Given the description of an element on the screen output the (x, y) to click on. 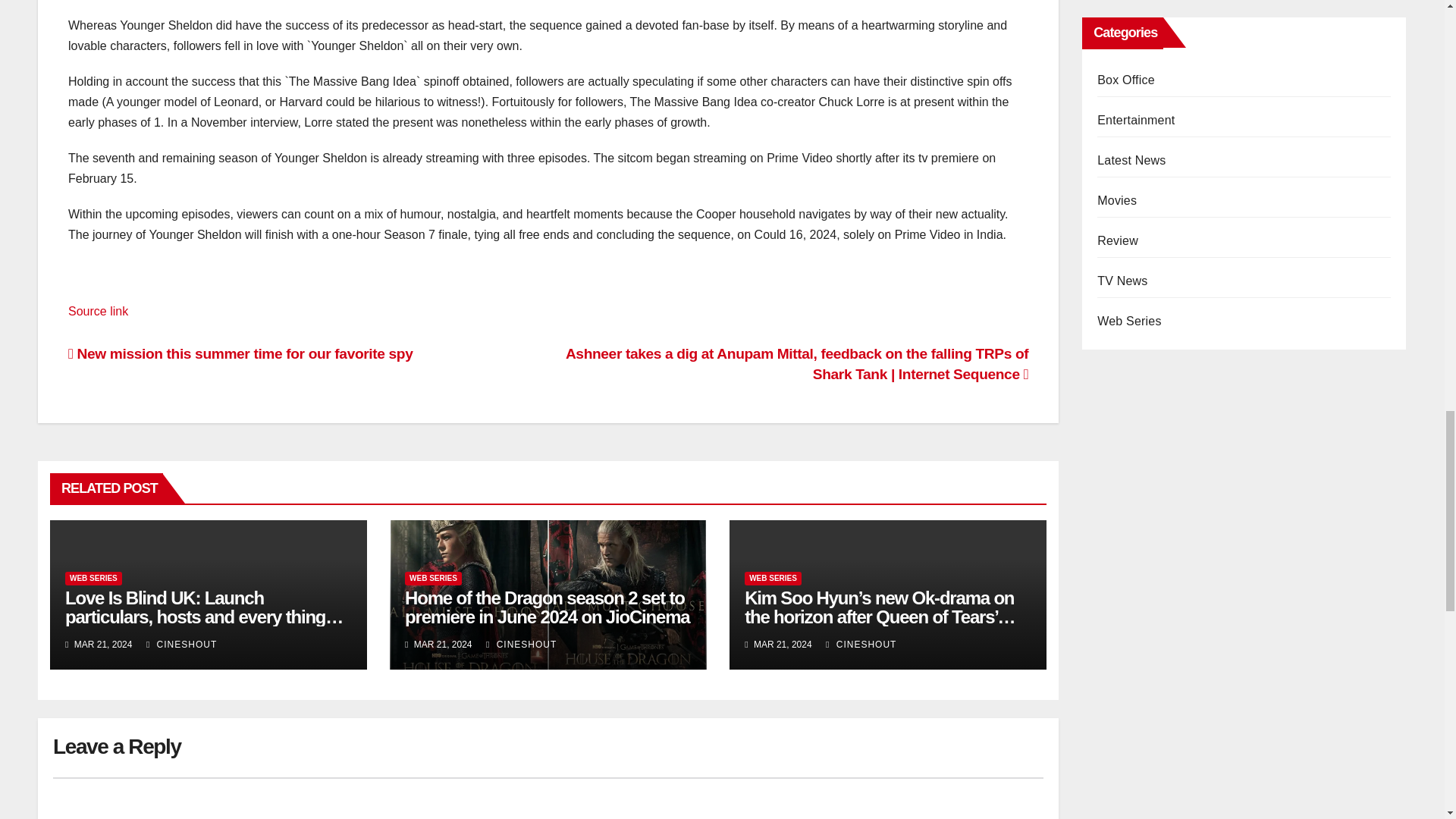
WEB SERIES (773, 578)
WEB SERIES (93, 578)
CINESHOUT (860, 644)
CINESHOUT (521, 644)
Comment Form (547, 798)
CINESHOUT (181, 644)
New mission this summer time for our favorite spy (240, 353)
Source link (98, 310)
